Given the description of an element on the screen output the (x, y) to click on. 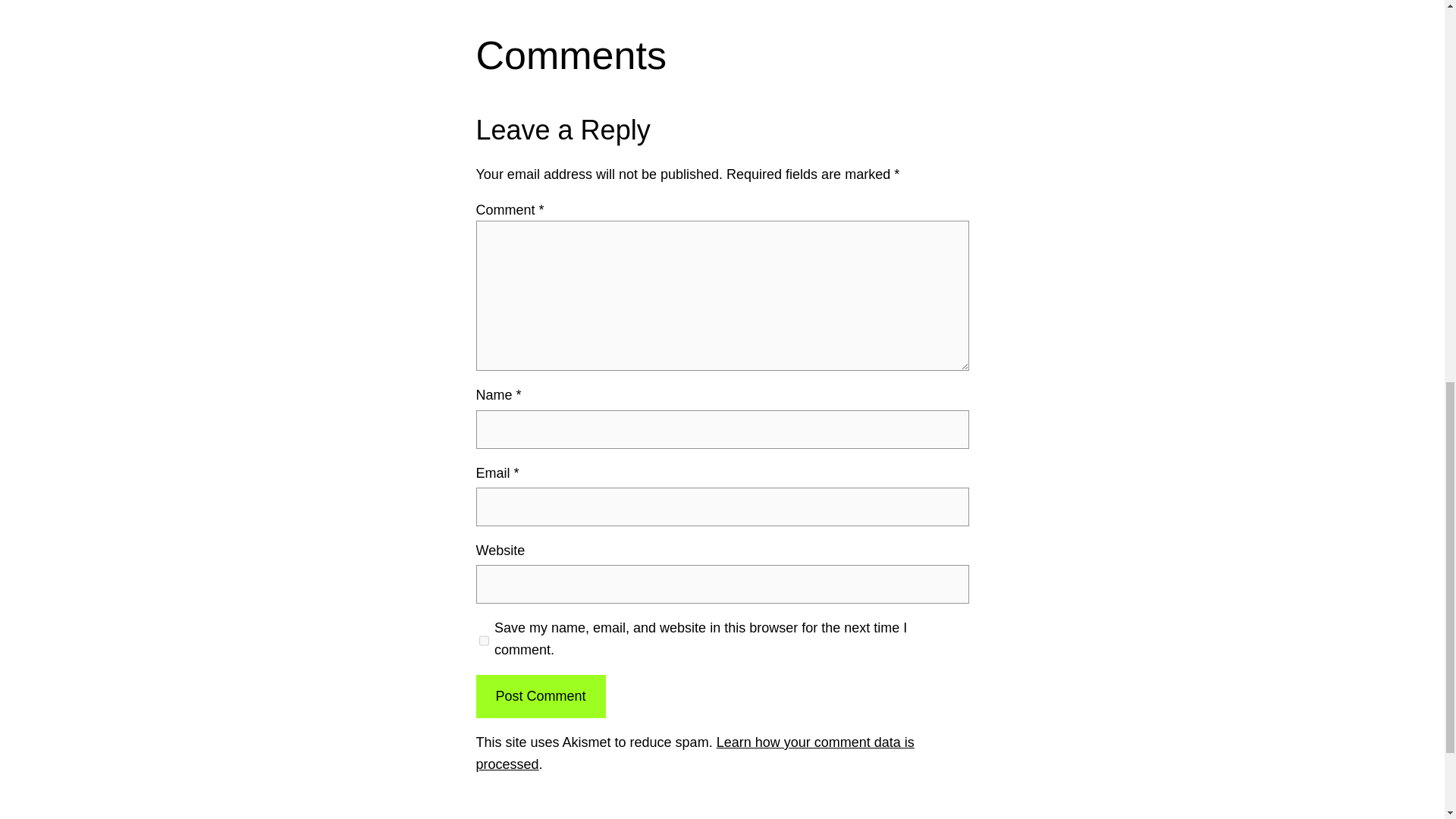
yes (484, 640)
Learn how your comment data is processed (695, 753)
Post Comment (540, 696)
Post Comment (540, 696)
